Given the description of an element on the screen output the (x, y) to click on. 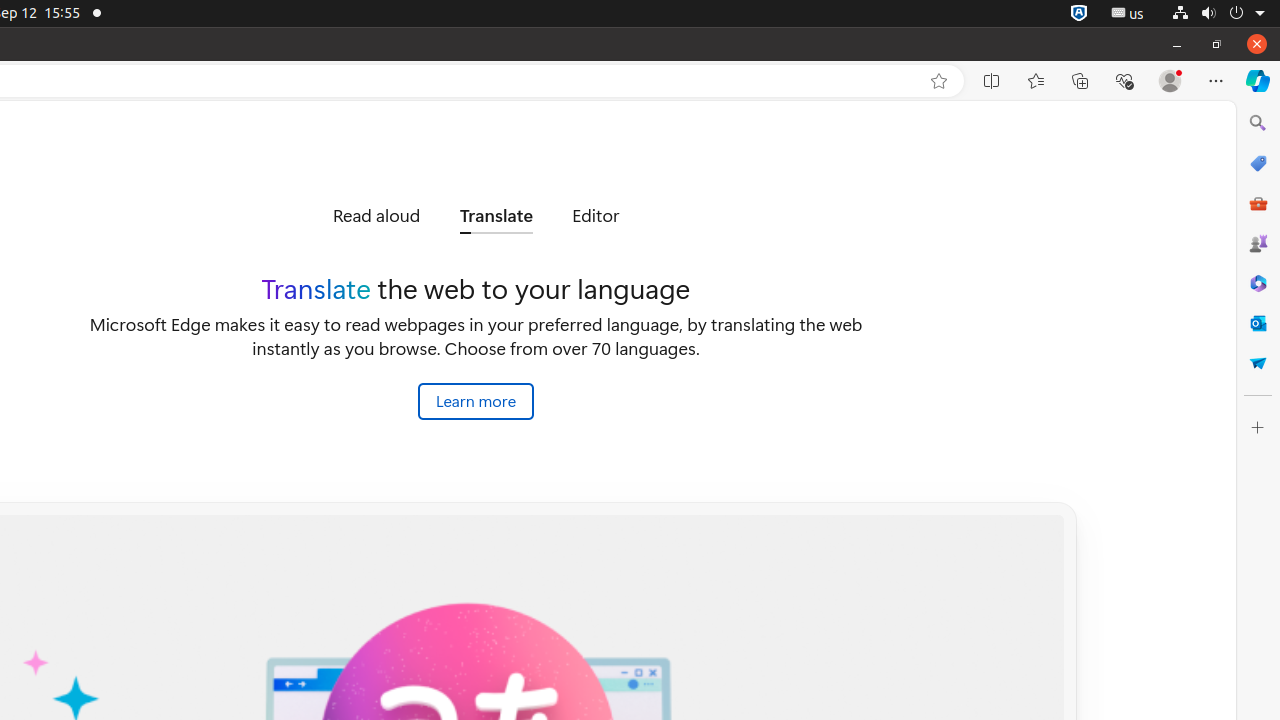
Settings and more (Alt+F) Element type: push-button (1216, 81)
Editor Editor Element type: push-button (596, 216)
Favorites Element type: push-button (1036, 81)
Customize Element type: push-button (1258, 428)
:1.72/StatusNotifierItem Element type: menu (1079, 13)
